Given the description of an element on the screen output the (x, y) to click on. 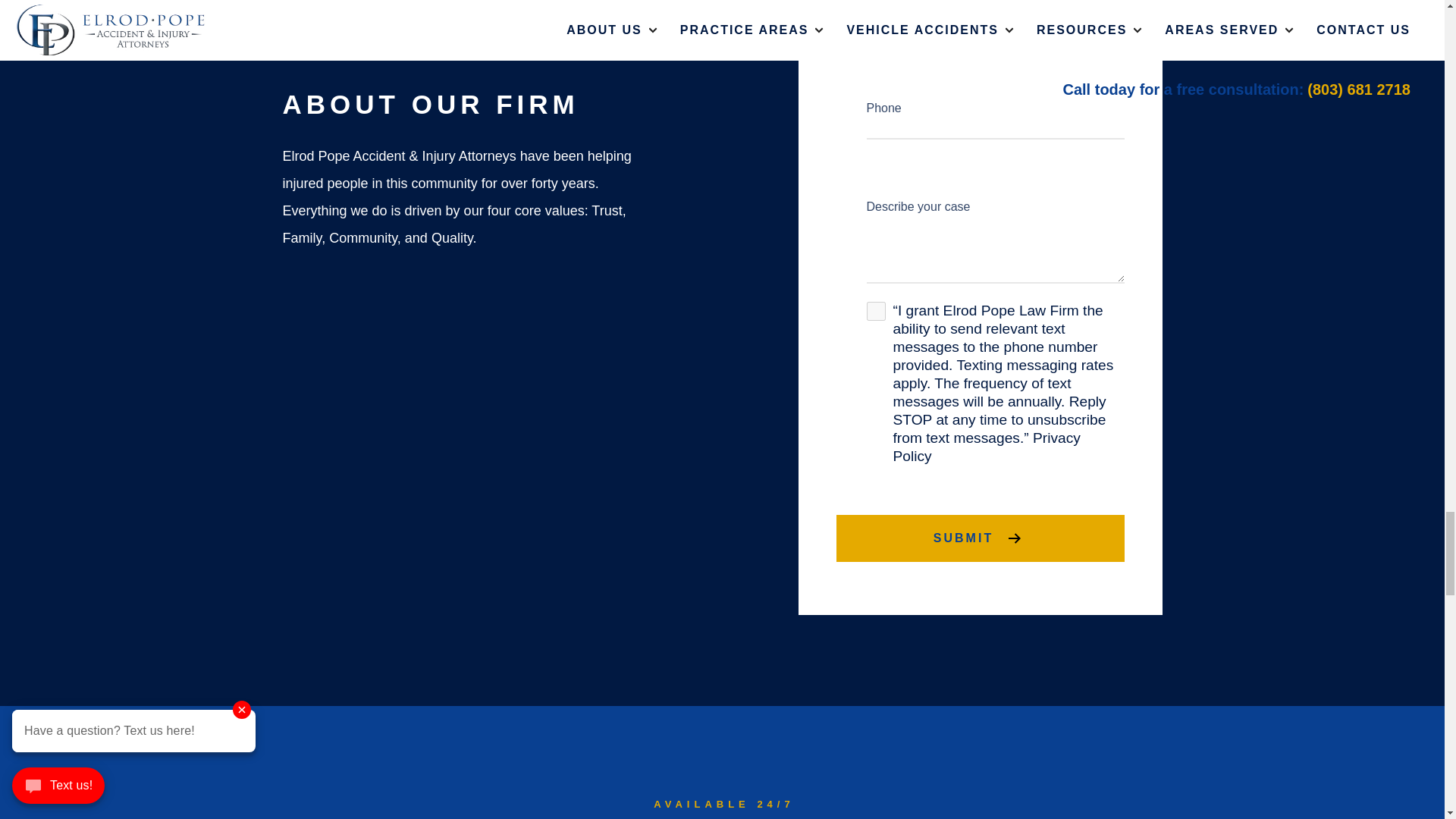
1 (875, 311)
